Given the description of an element on the screen output the (x, y) to click on. 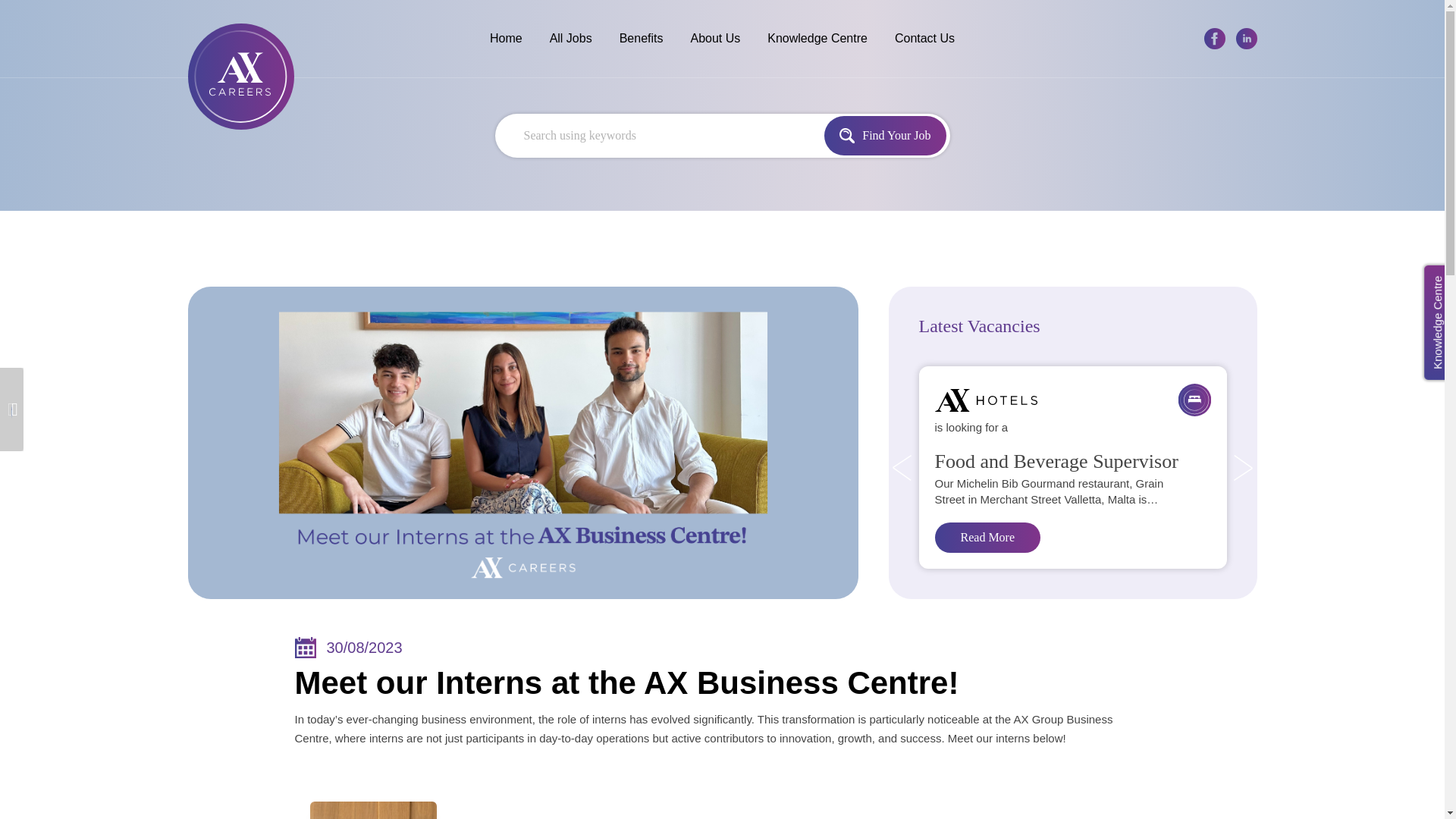
Knowledge Centre (817, 38)
About Us (714, 38)
Contact Us (924, 38)
Find Your Job (884, 135)
